Given the description of an element on the screen output the (x, y) to click on. 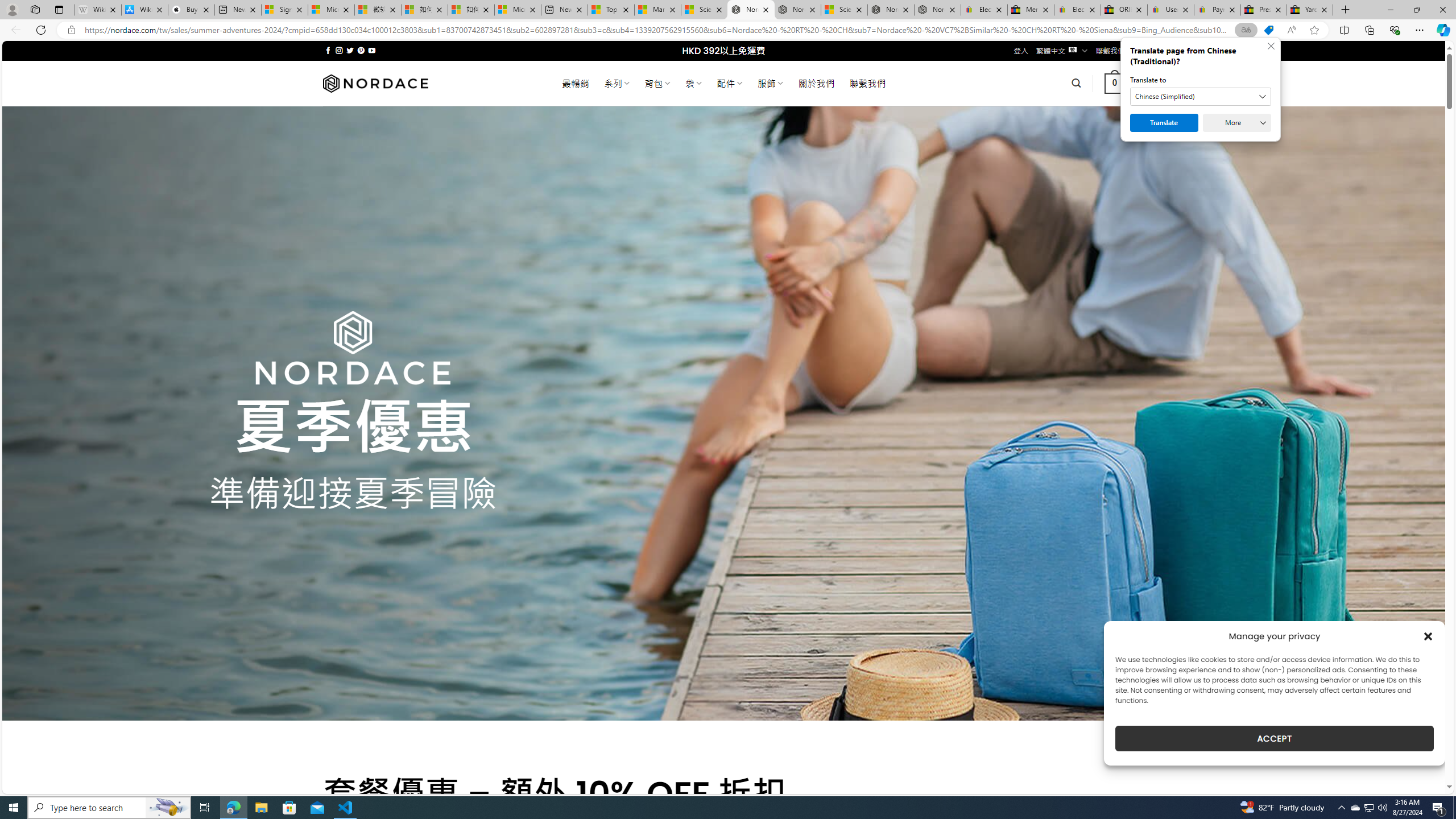
Close tab (1324, 9)
Copilot (Ctrl+Shift+.) (1442, 29)
Nordace (374, 83)
More (1236, 122)
Tab actions menu (58, 9)
Buy iPad - Apple (191, 9)
Add this page to favorites (Ctrl+D) (1314, 29)
Wikipedia - Sleeping (97, 9)
Close (1442, 9)
Refresh (40, 29)
